Given the description of an element on the screen output the (x, y) to click on. 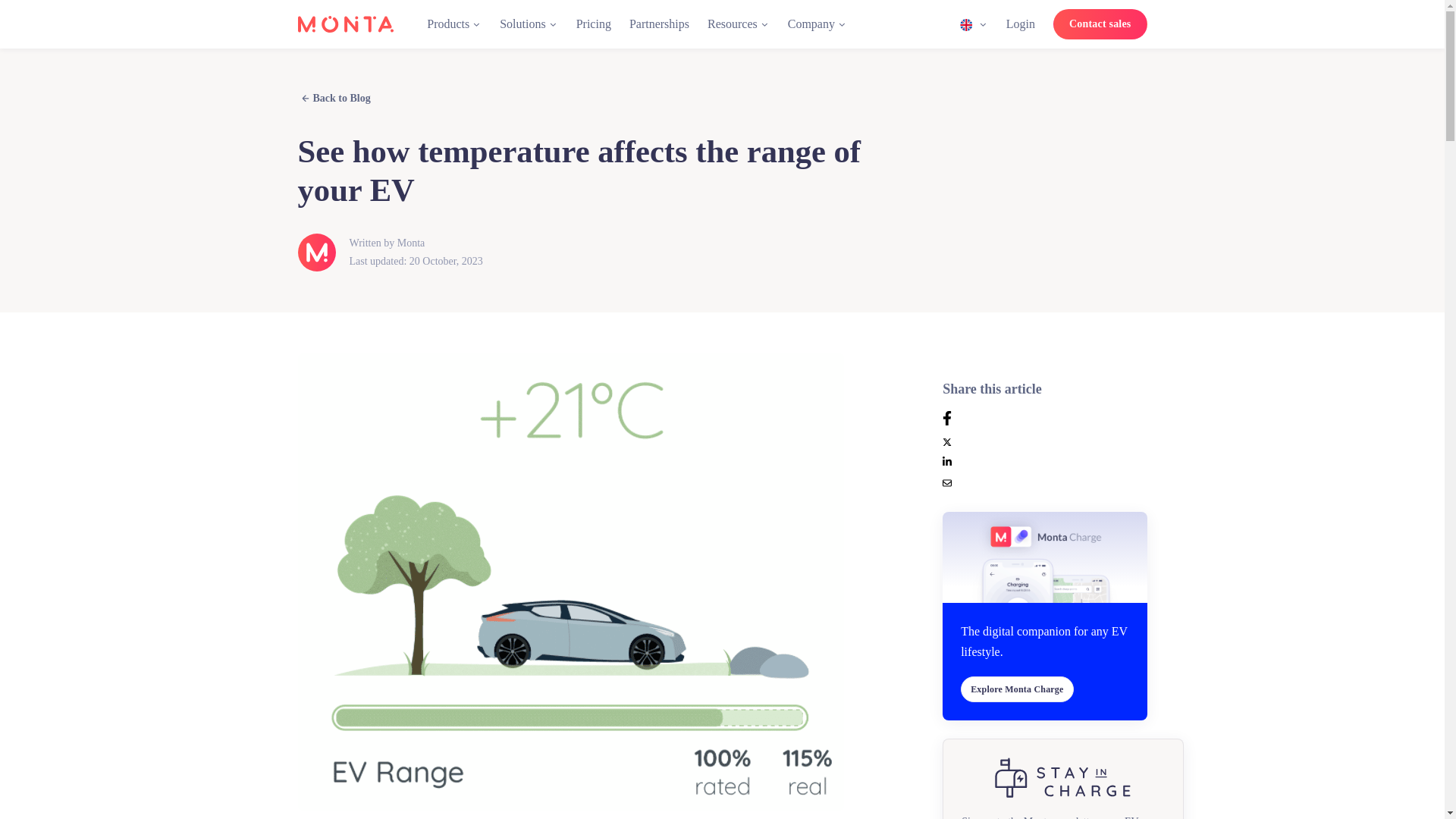
Solutions (528, 23)
Products (453, 23)
